Given the description of an element on the screen output the (x, y) to click on. 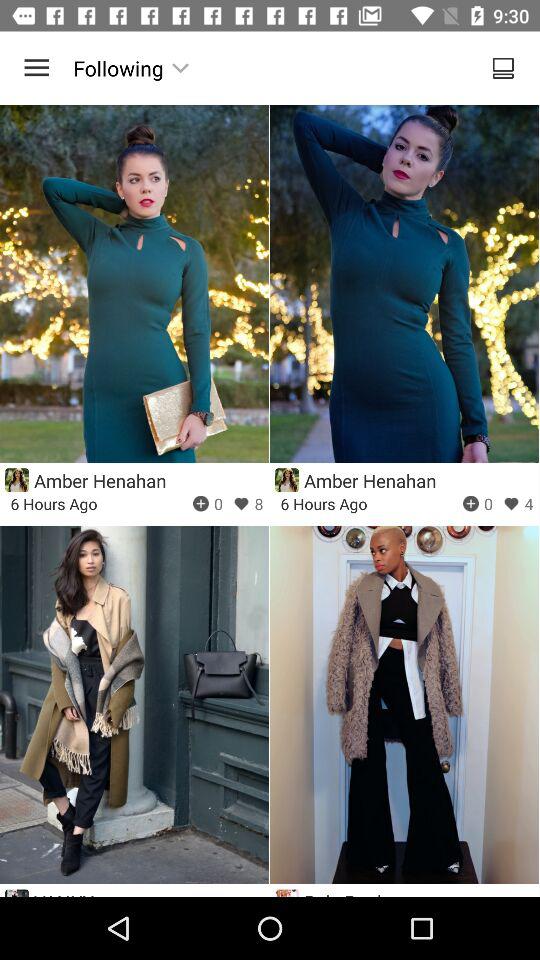
enlarge profile picture (16, 479)
